Given the description of an element on the screen output the (x, y) to click on. 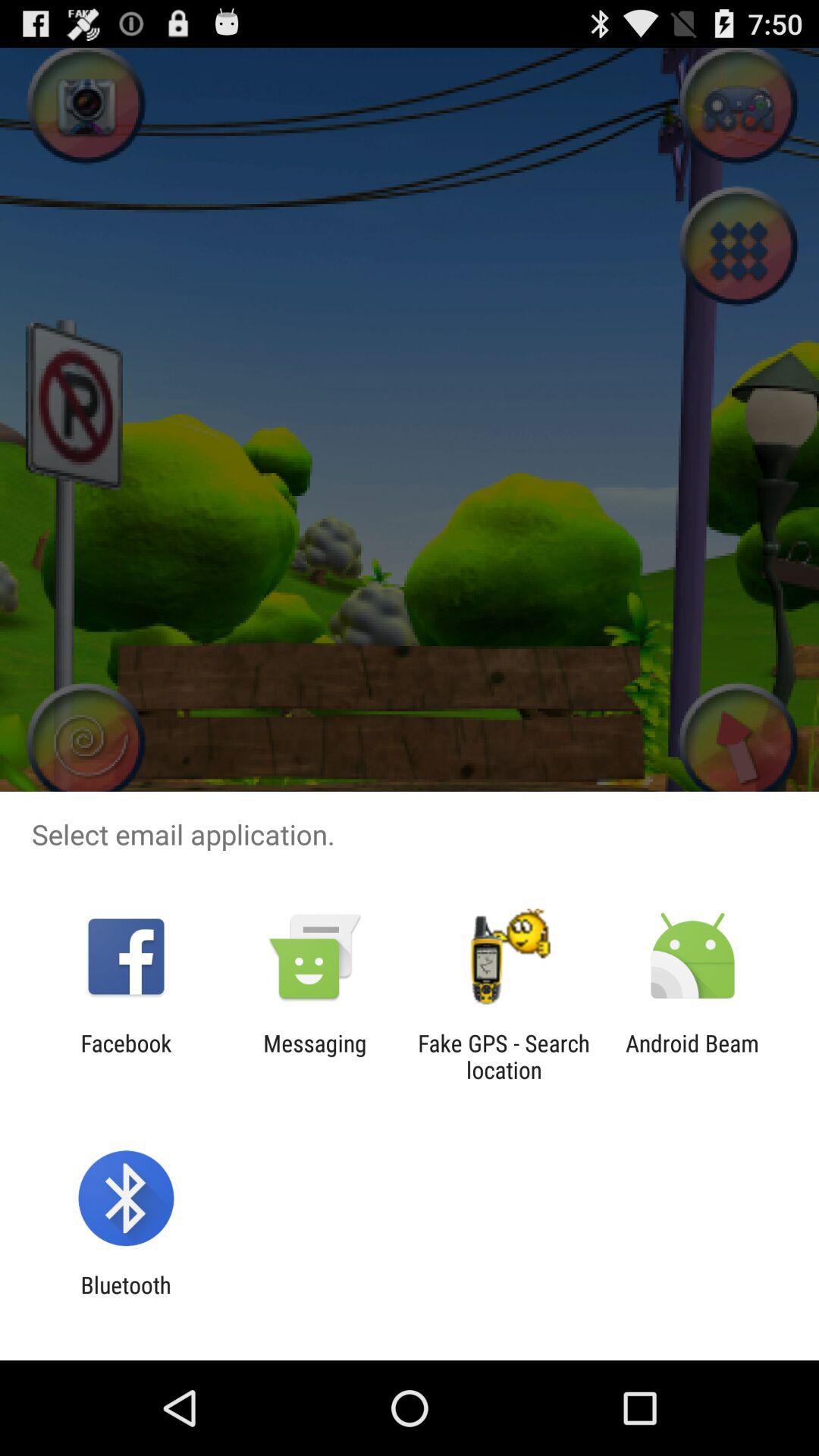
jump until the bluetooth icon (125, 1298)
